Given the description of an element on the screen output the (x, y) to click on. 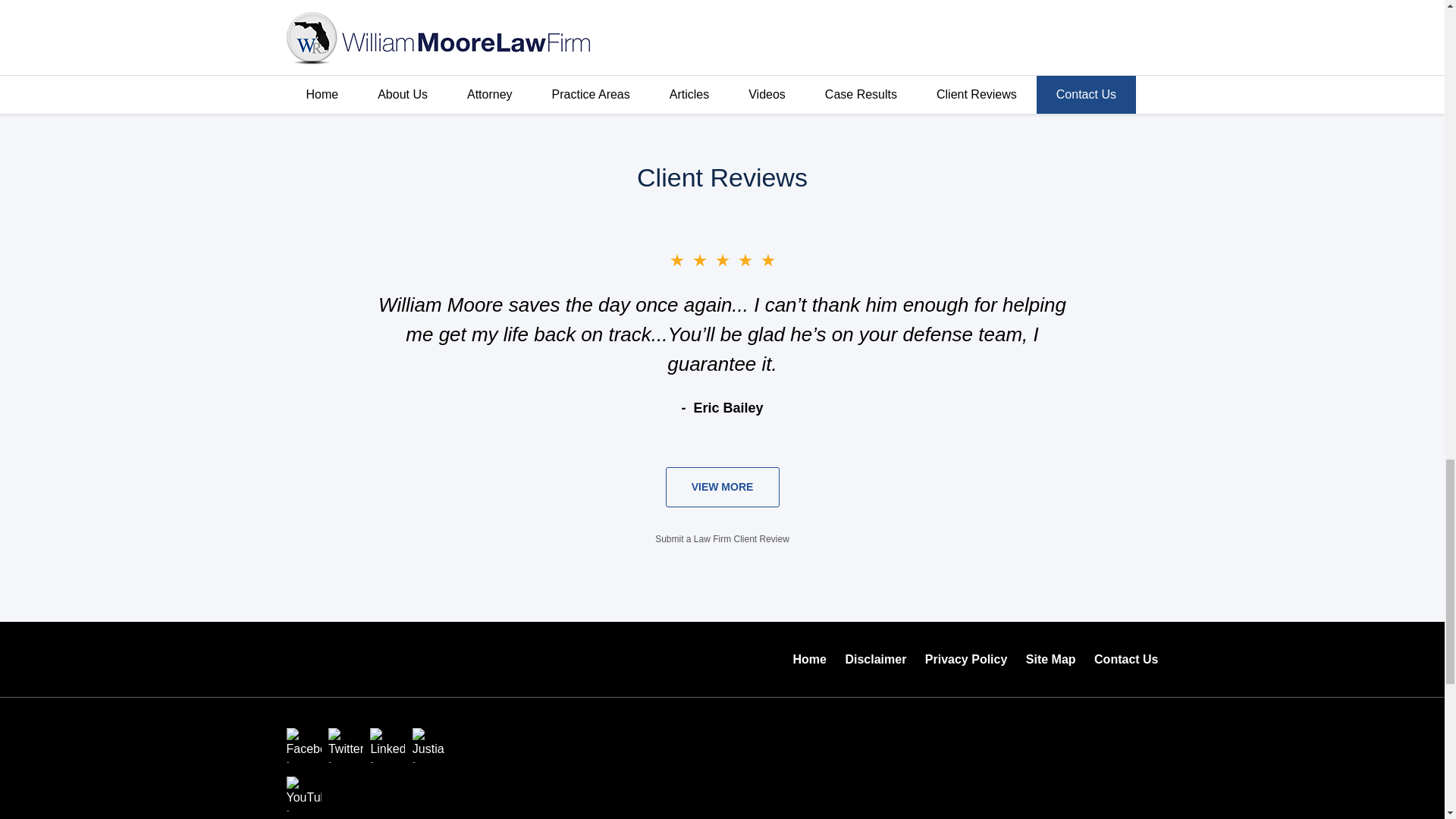
Facebook (303, 745)
Site Map (1050, 659)
VIEW MORE (721, 486)
Submit a Law Firm Client Review (722, 538)
Justia (429, 745)
YouTube (303, 793)
Disclaimer (875, 659)
Contact Us (1126, 659)
LinkedIn (386, 745)
Home (810, 659)
